Given the description of an element on the screen output the (x, y) to click on. 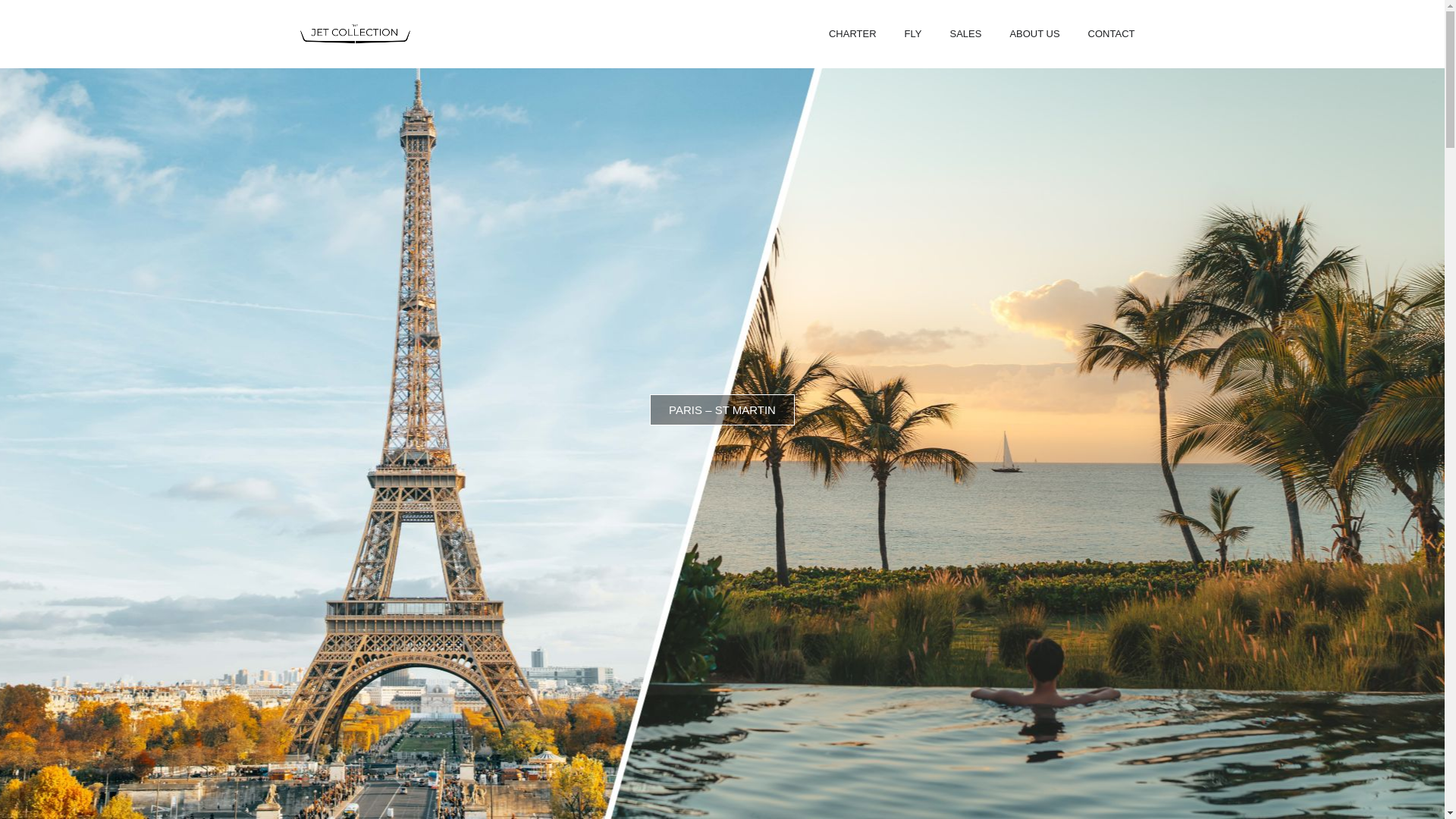
FLY (912, 33)
CHARTER (852, 33)
SALES (965, 33)
